Given the description of an element on the screen output the (x, y) to click on. 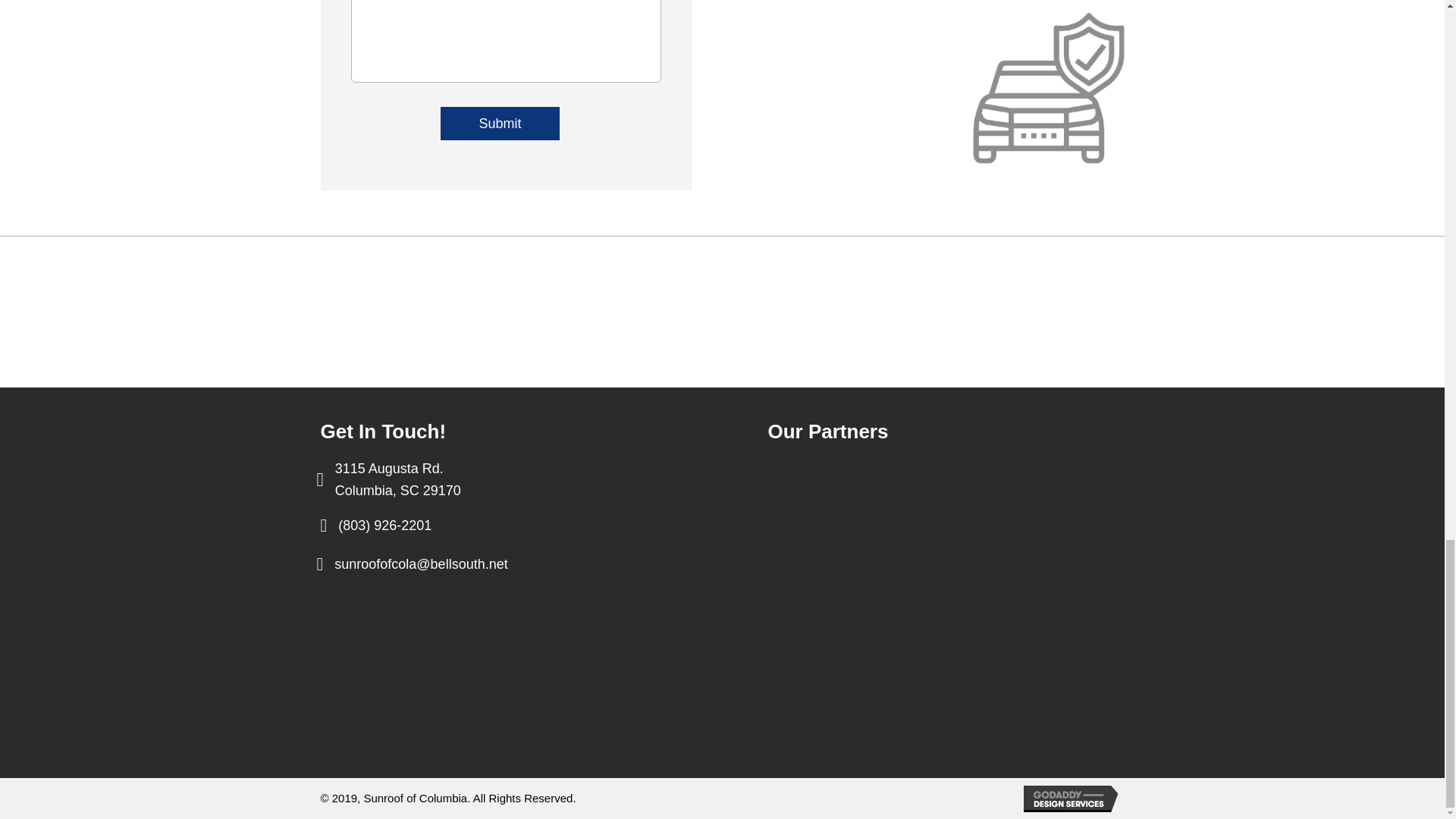
Submit (397, 479)
Submit (500, 123)
